Given the description of an element on the screen output the (x, y) to click on. 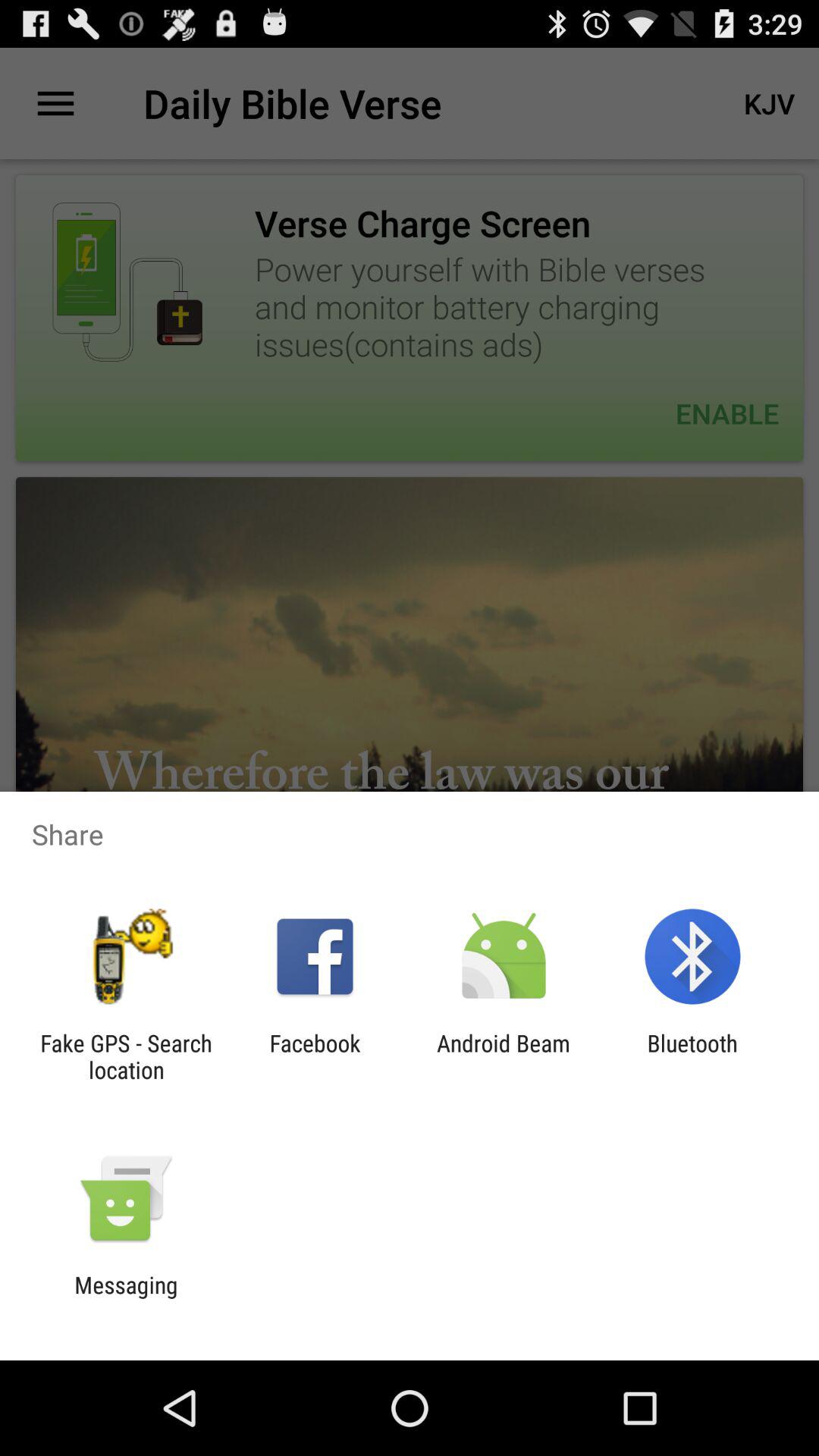
select the icon to the left of facebook app (125, 1056)
